Given the description of an element on the screen output the (x, y) to click on. 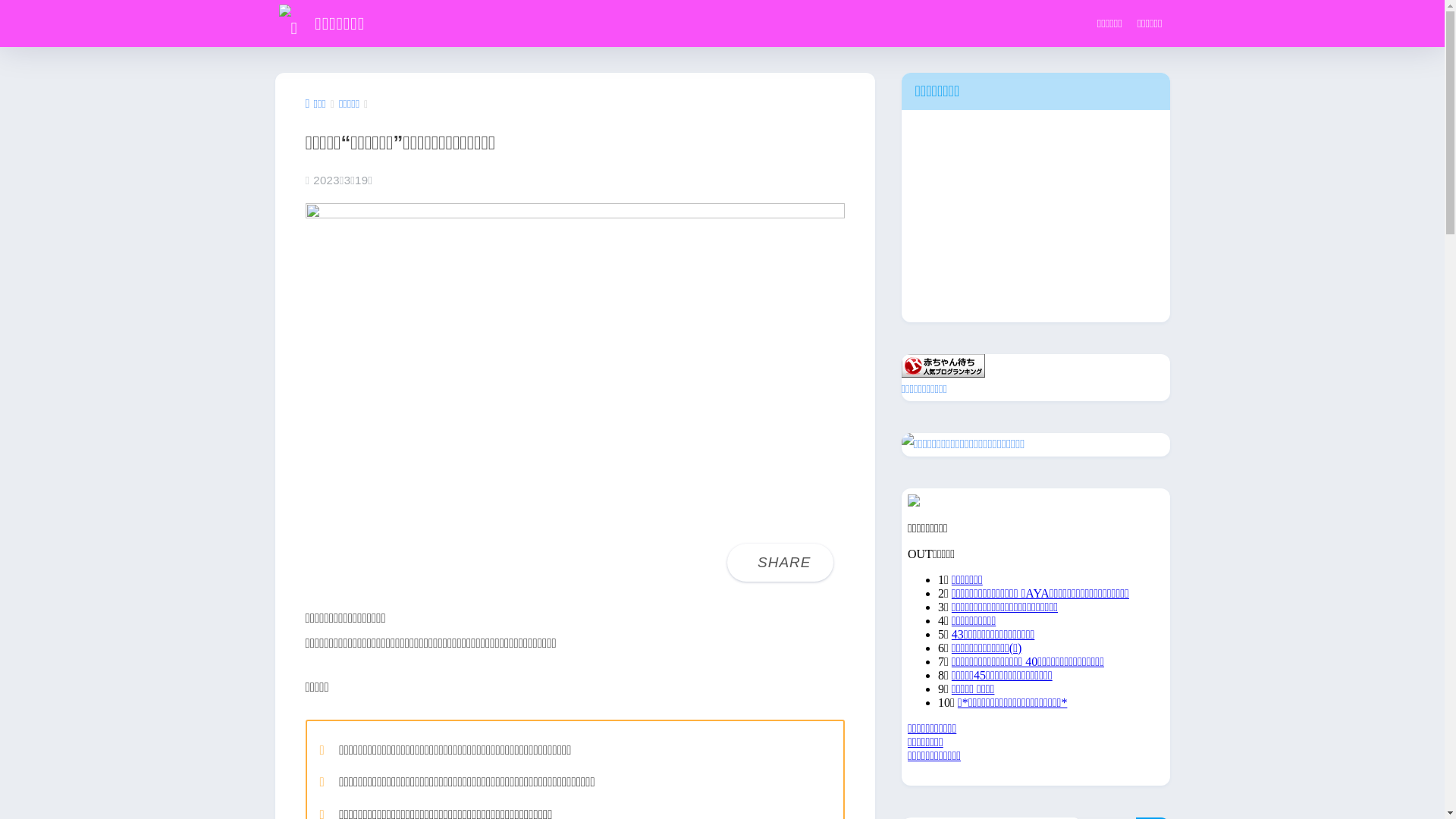
Advertisement Element type: hover (1034, 215)
on Element type: text (4, 4)
